Given the description of an element on the screen output the (x, y) to click on. 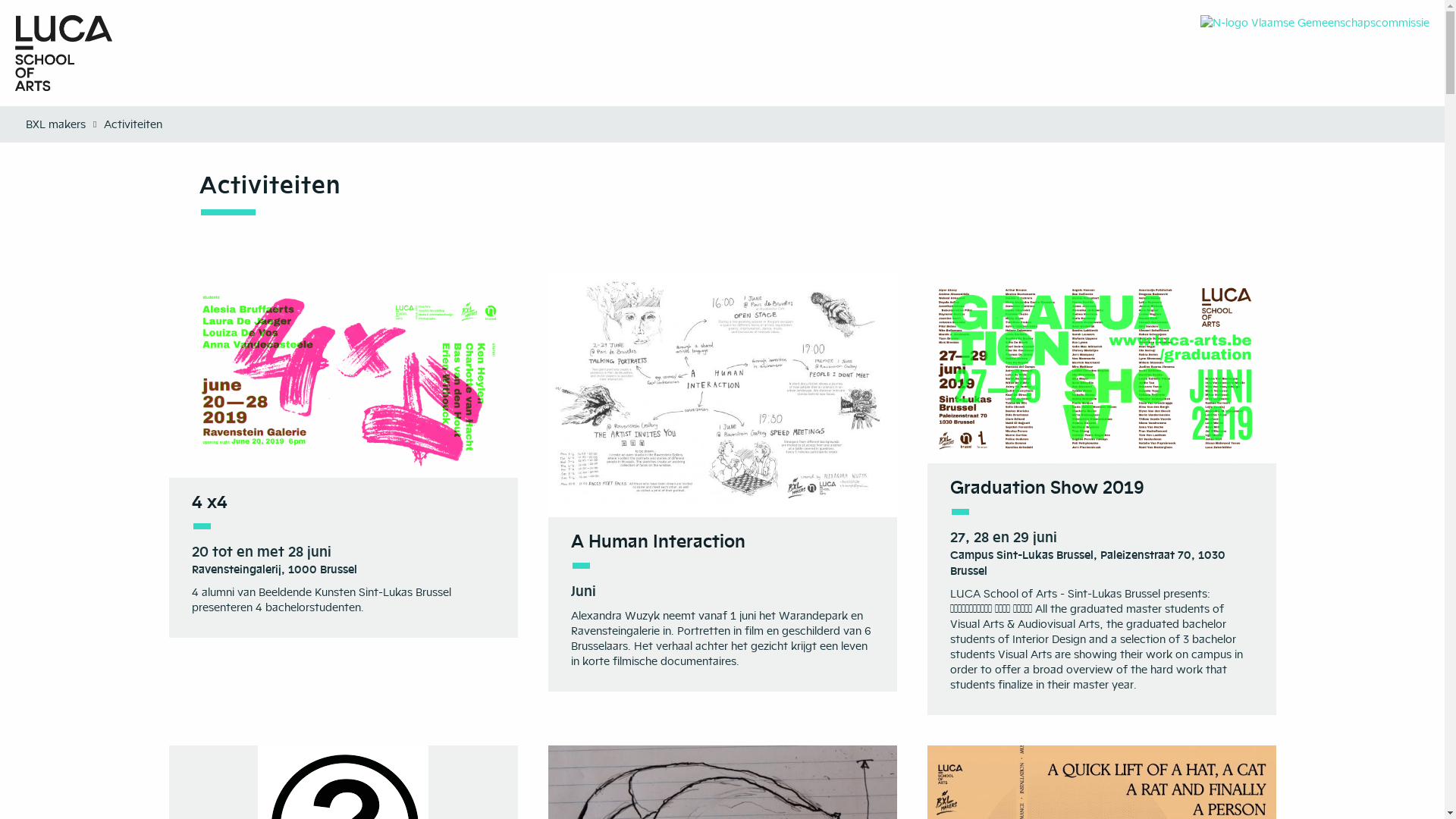
Activiteiten Element type: text (131, 123)
BXL makers Element type: text (55, 123)
4 x4 Element type: hover (342, 375)
A Human Interaction Element type: text (657, 540)
A Human Interaction Element type: hover (721, 395)
Graduation Show 2019 Element type: hover (1101, 368)
Graduation Show 2019 Element type: text (1046, 486)
4 x4 Element type: text (208, 501)
